Given the description of an element on the screen output the (x, y) to click on. 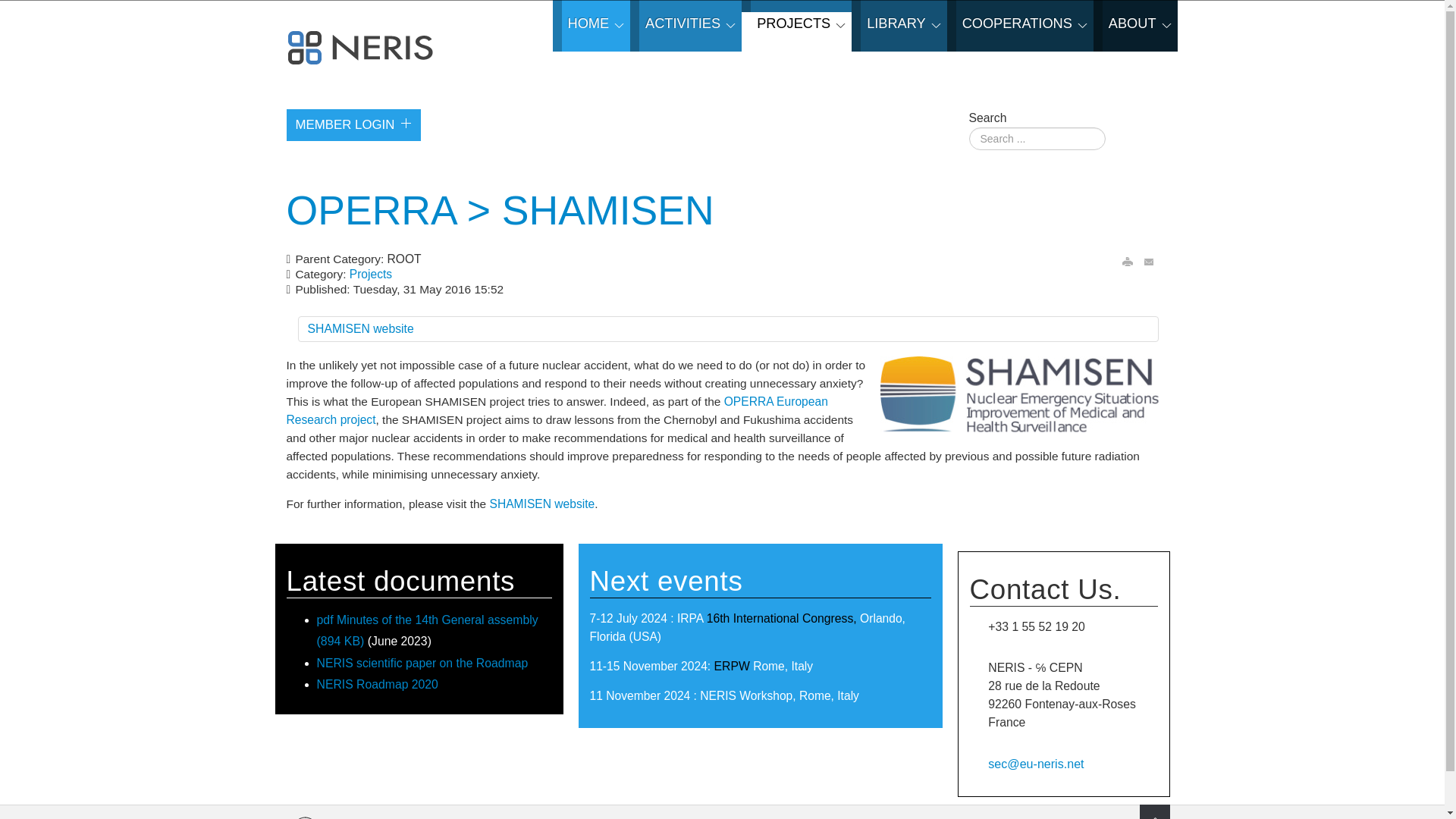
PROJECTS (796, 25)
16th International Congress, (781, 617)
OPERRA European Research project (557, 409)
MEMBER LOGIN (354, 124)
Projects (370, 273)
Email this link to a friend (1149, 260)
ABOUT (1135, 25)
NERIS Roadmap 2020 (377, 684)
SHAMISEN website (541, 503)
COOPERATIONS (1020, 25)
